Given the description of an element on the screen output the (x, y) to click on. 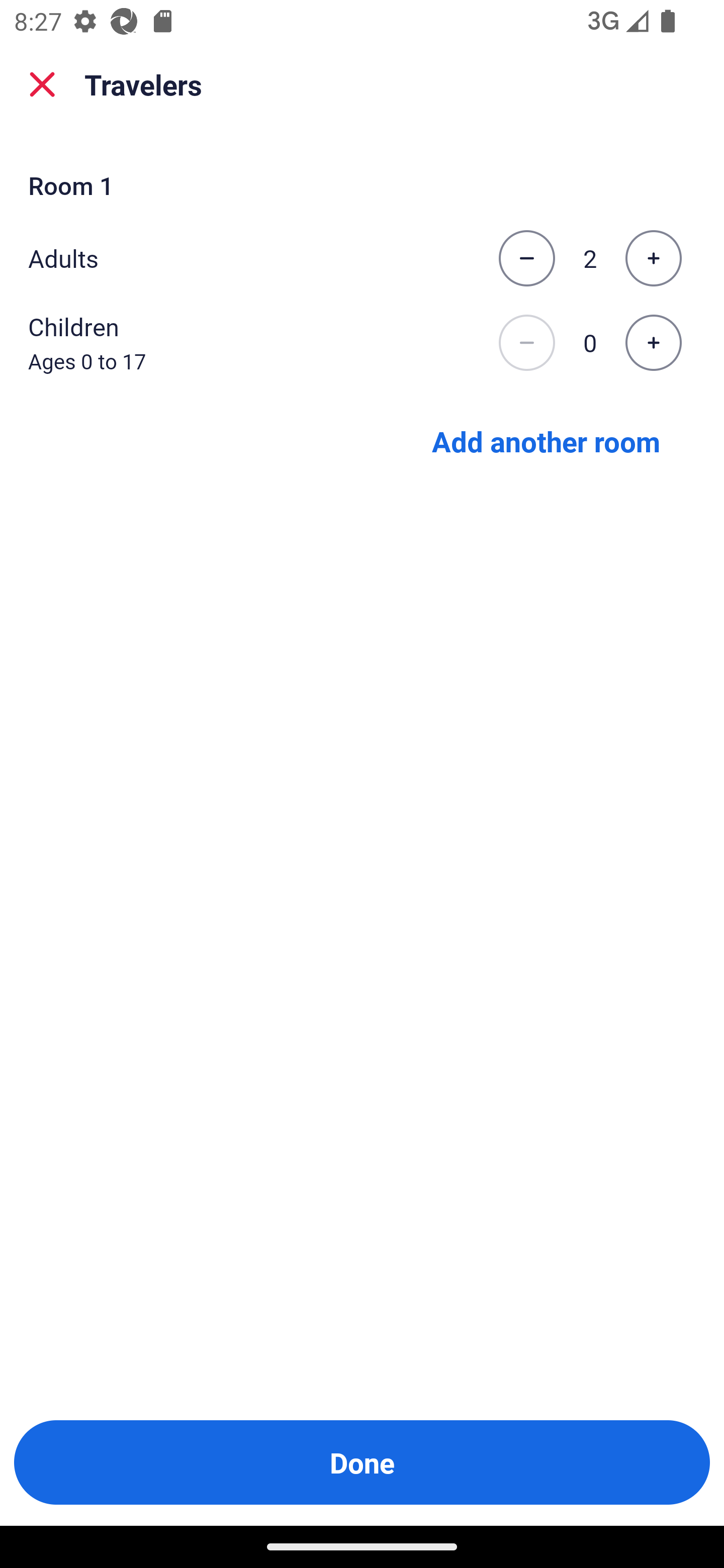
close (42, 84)
Decrease the number of adults (526, 258)
Increase the number of adults (653, 258)
Decrease the number of children (526, 343)
Increase the number of children (653, 343)
Add another room (545, 440)
Done (361, 1462)
